Given the description of an element on the screen output the (x, y) to click on. 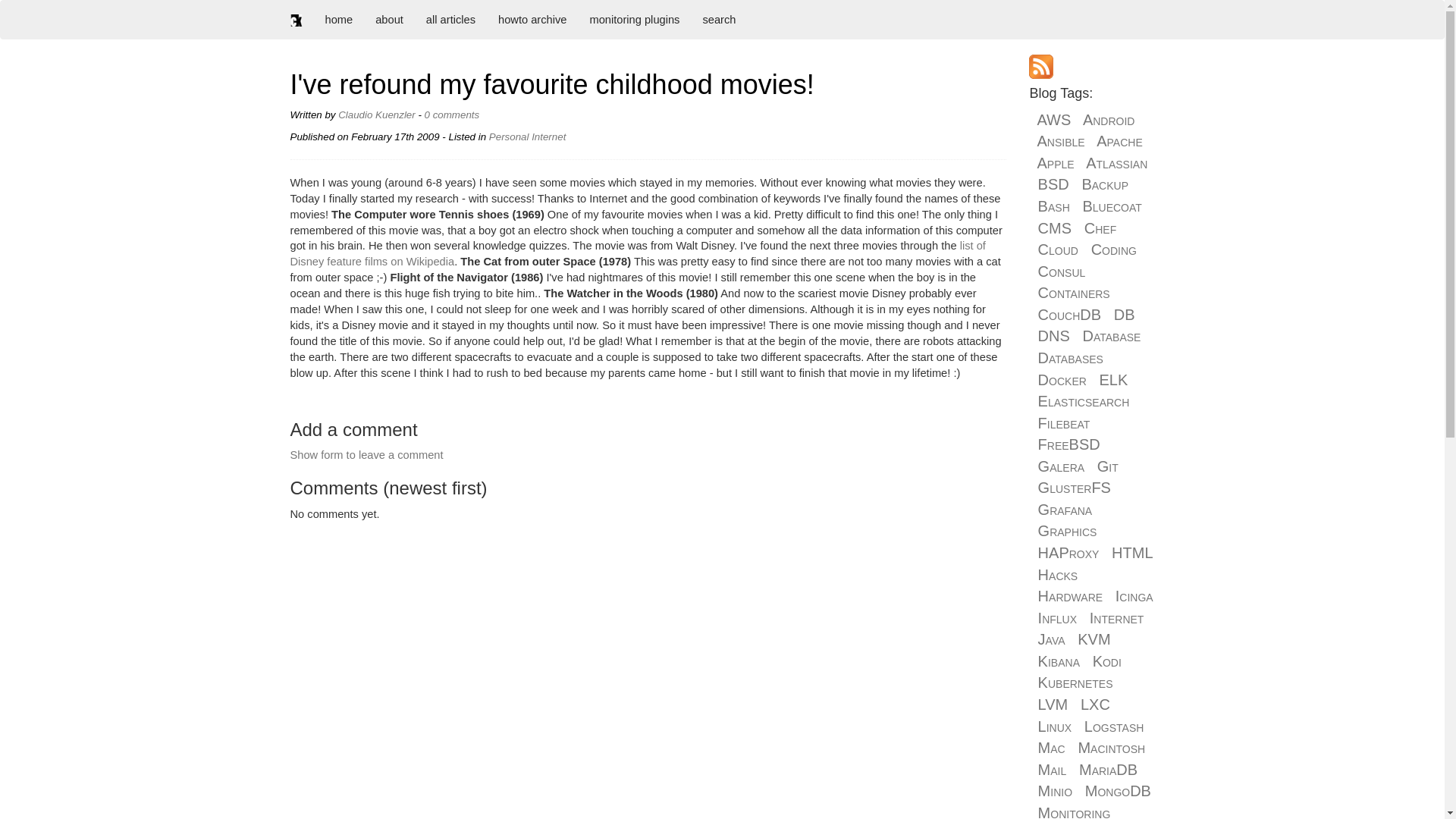
Chef (1100, 228)
Bluecoat (1111, 206)
Show form to leave a comment (365, 454)
about (389, 19)
list of Disney feature films on Wikipedia (637, 253)
DB (1124, 314)
BSD (1053, 184)
Cloud (1058, 248)
0 comments (452, 114)
Apache (1119, 140)
